Given the description of an element on the screen output the (x, y) to click on. 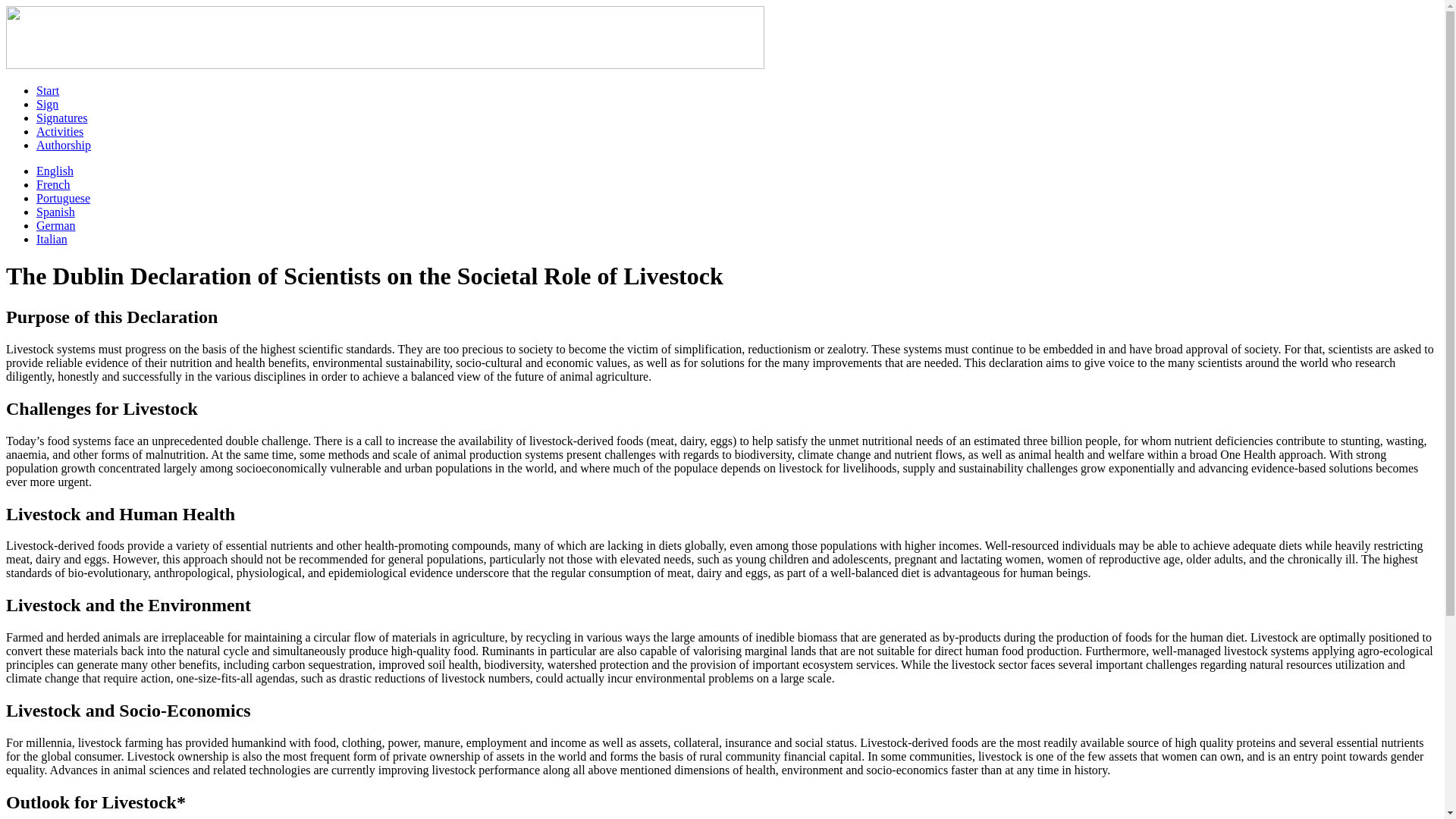
Start (47, 90)
French (52, 184)
Sign (47, 103)
English (55, 170)
Portuguese (63, 197)
Activities (59, 131)
Spanish (55, 211)
Signatures (61, 117)
Start (47, 90)
Italian (51, 238)
Sign (47, 103)
Authorship (63, 144)
French (52, 184)
German (55, 225)
Deutsch (55, 225)
